Given the description of an element on the screen output the (x, y) to click on. 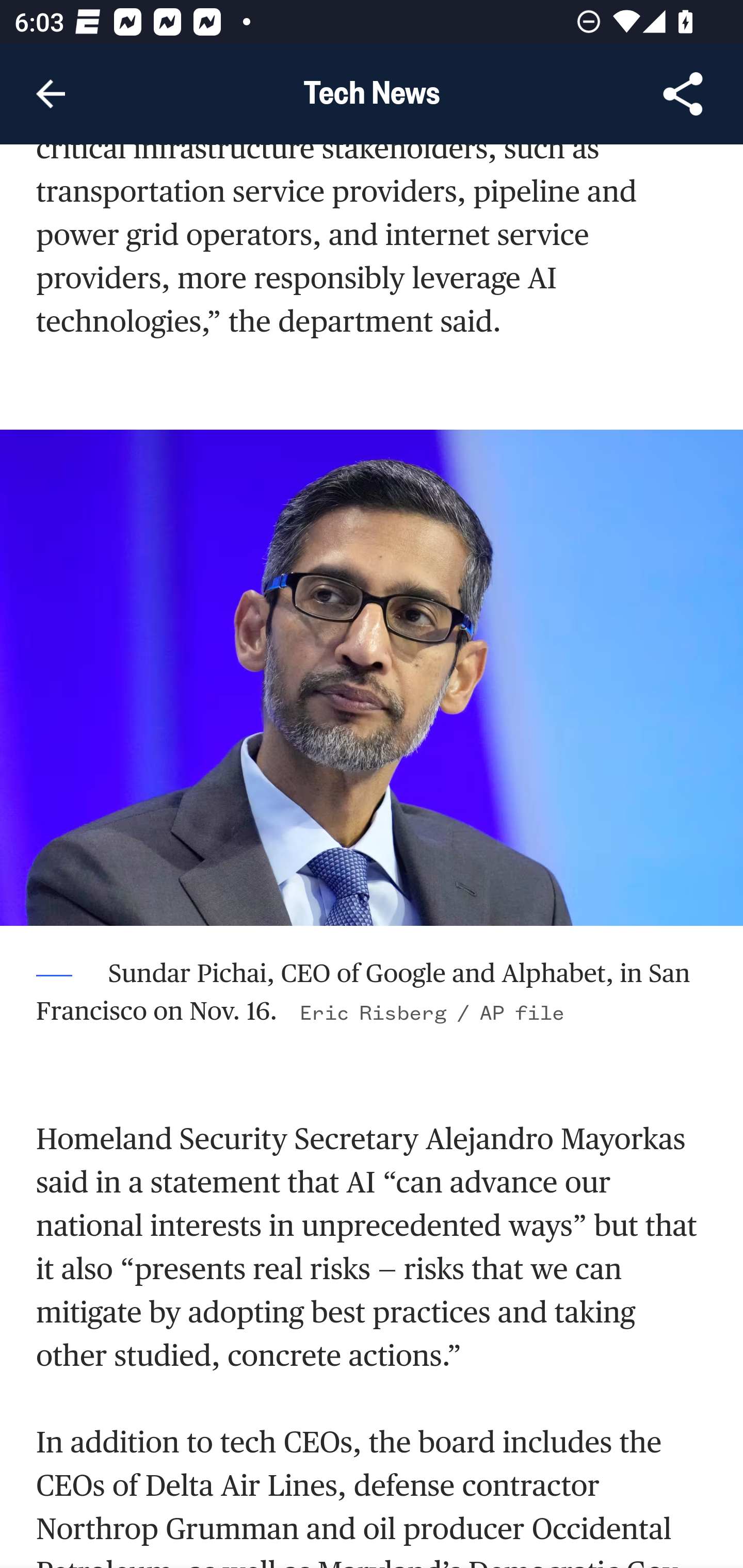
Navigate up (50, 93)
Share Article, button (683, 94)
